Given the description of an element on the screen output the (x, y) to click on. 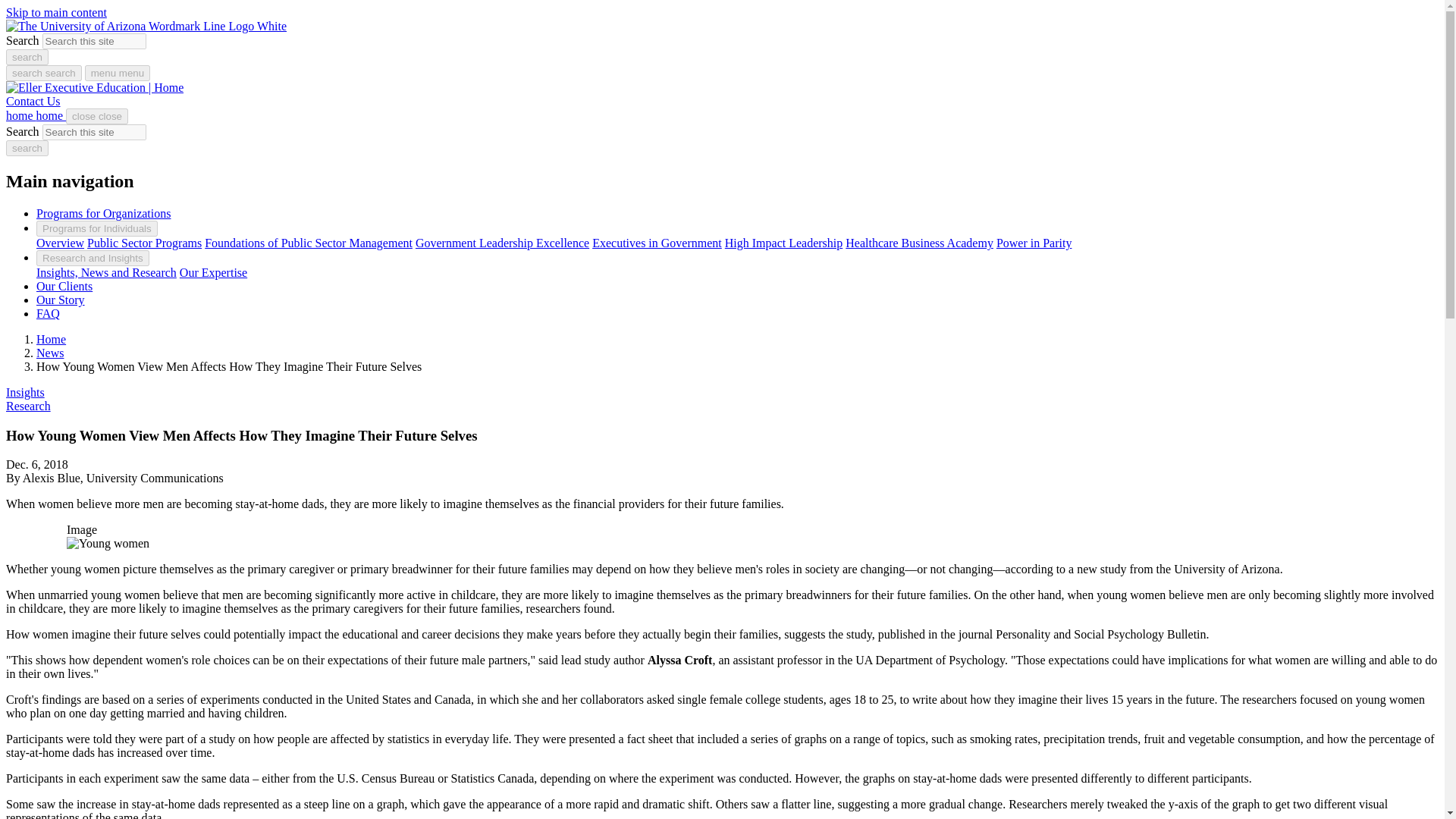
Insights, News and Research (106, 272)
The University of Arizona homepage (145, 25)
Government Leadership Excellence (501, 242)
Our Expertise (213, 272)
Our Story (60, 299)
Research and Insights (92, 258)
Skip to main content (55, 11)
News (50, 352)
Executives in Government (657, 242)
search (26, 148)
